Given the description of an element on the screen output the (x, y) to click on. 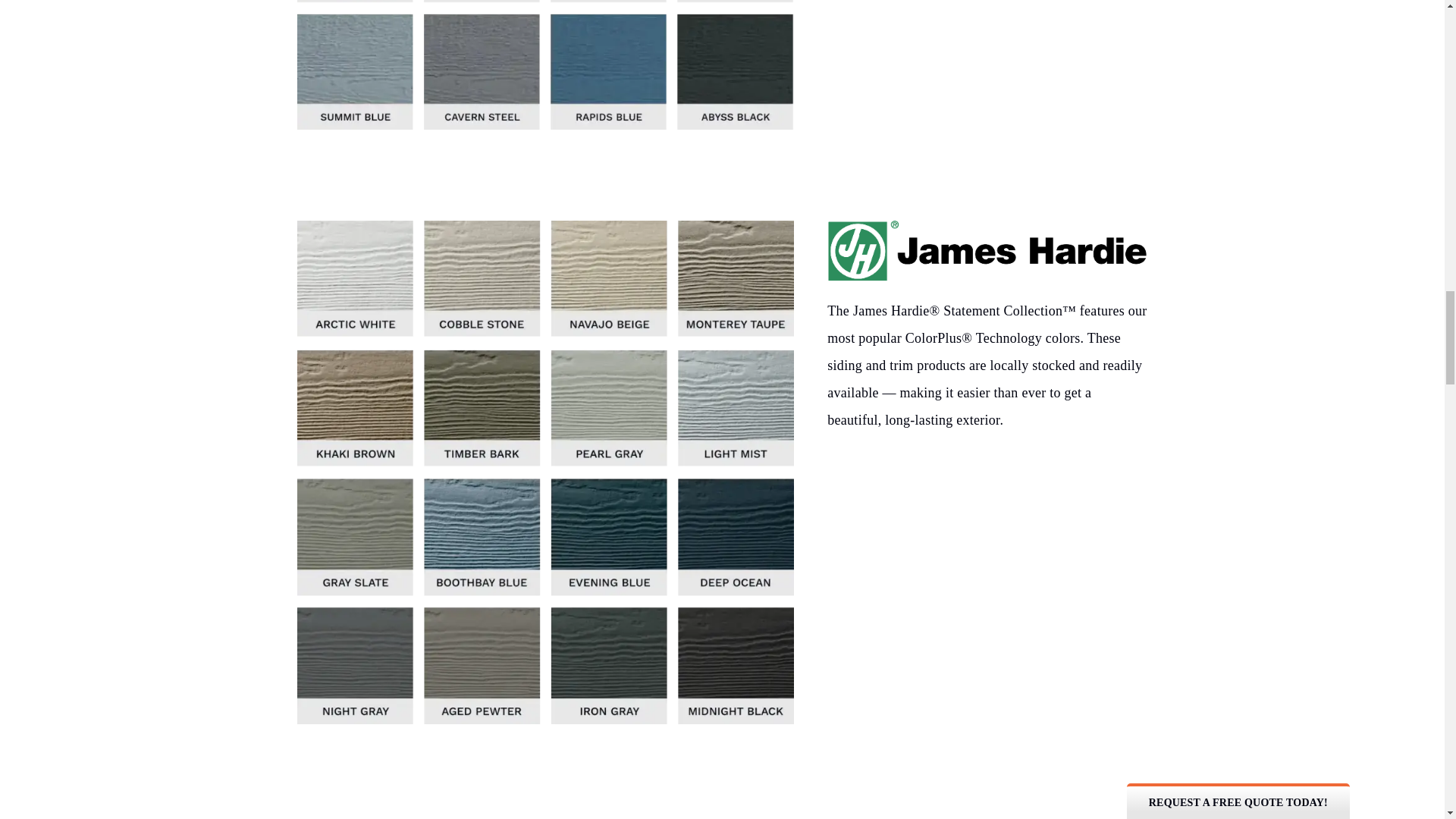
SidingOptionsSmartSide2x (545, 64)
